Given the description of an element on the screen output the (x, y) to click on. 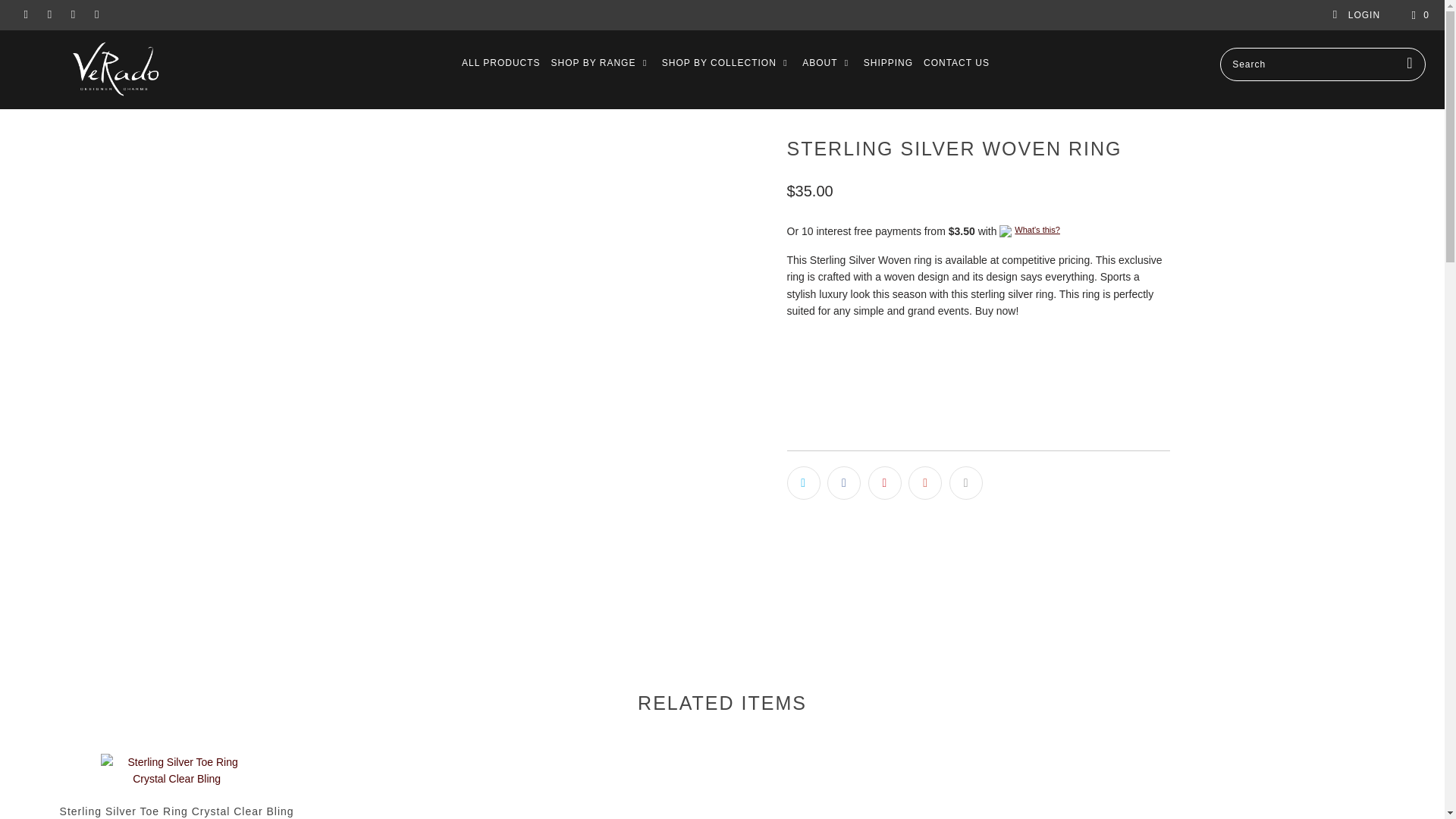
Verado Jewellery Australia on Facebook (48, 14)
Verado Jewellery Australia on Pinterest (71, 14)
Share this on Pinterest (884, 482)
Verado Jewellery Australia on Twitter (25, 14)
Verado Jewellery Australia (115, 69)
Share this on Facebook (843, 482)
Share this on Twitter (804, 482)
LOGIN (1355, 15)
My Account  (1355, 15)
Email this to a friend (965, 482)
Email Verado Jewellery Australia (94, 14)
